Given the description of an element on the screen output the (x, y) to click on. 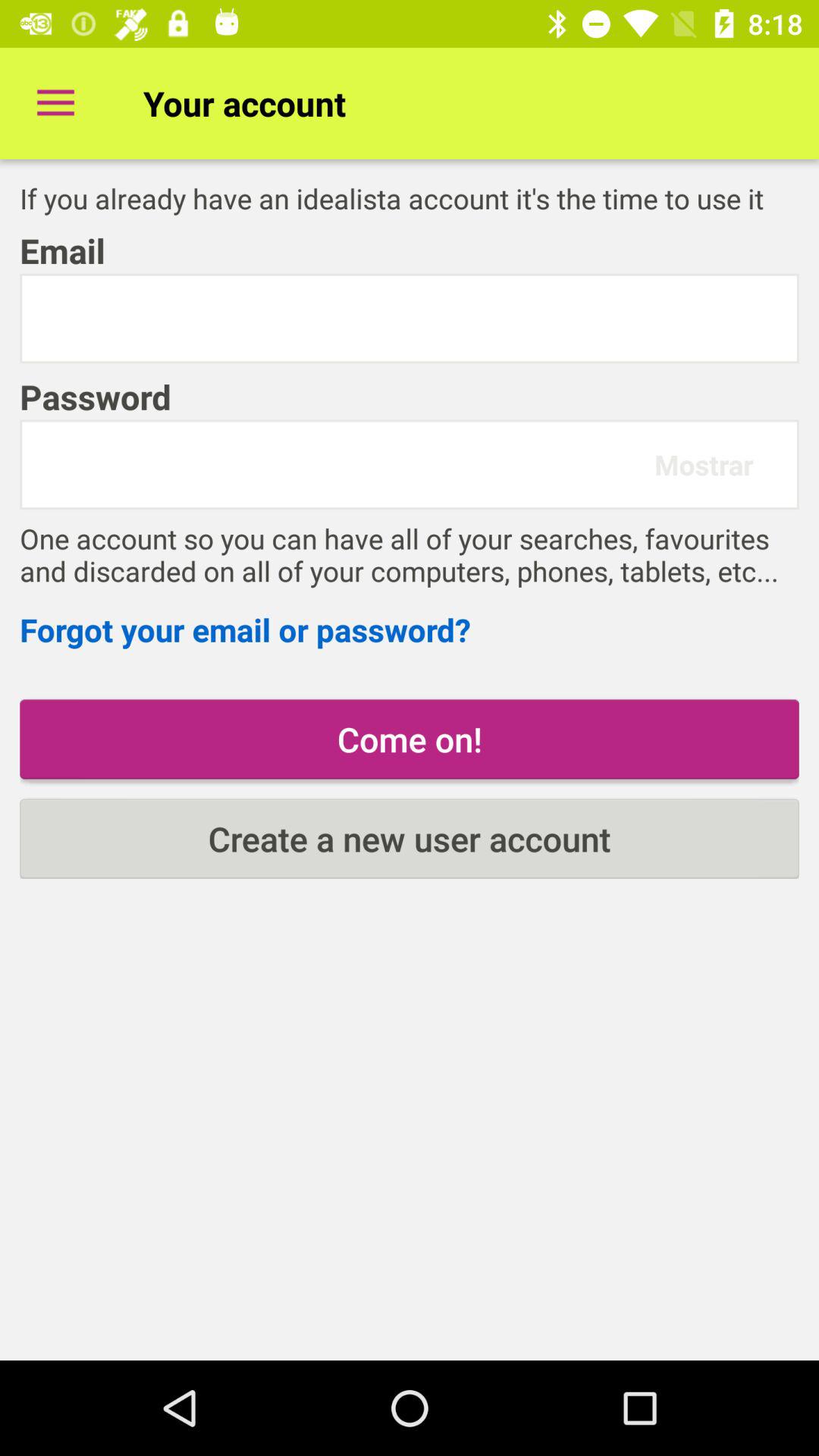
turn off come on! icon (409, 739)
